Given the description of an element on the screen output the (x, y) to click on. 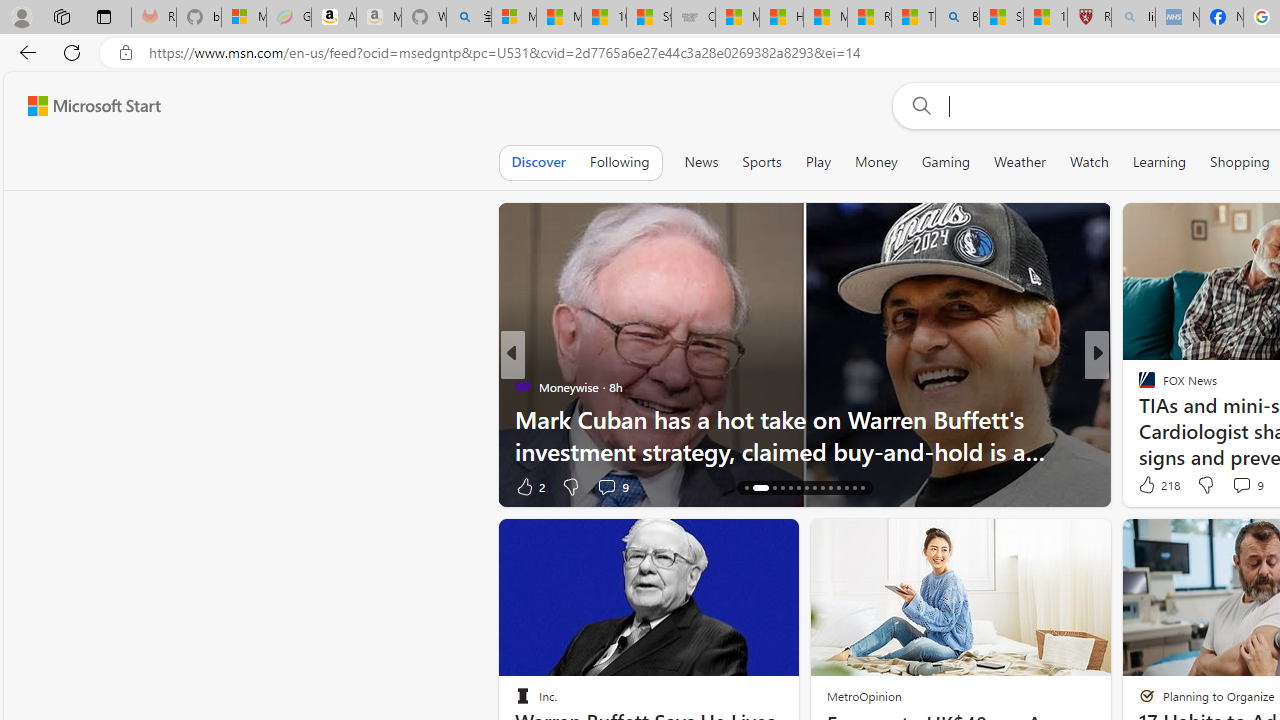
78 Like (1149, 486)
View comments 5 Comment (1234, 486)
154 Like (1151, 486)
View comments 9 Comment (1241, 485)
AutomationID: tab-28 (861, 487)
AutomationID: tab-22 (814, 487)
View comments 66 Comment (1244, 486)
876 Like (1151, 486)
